Given the description of an element on the screen output the (x, y) to click on. 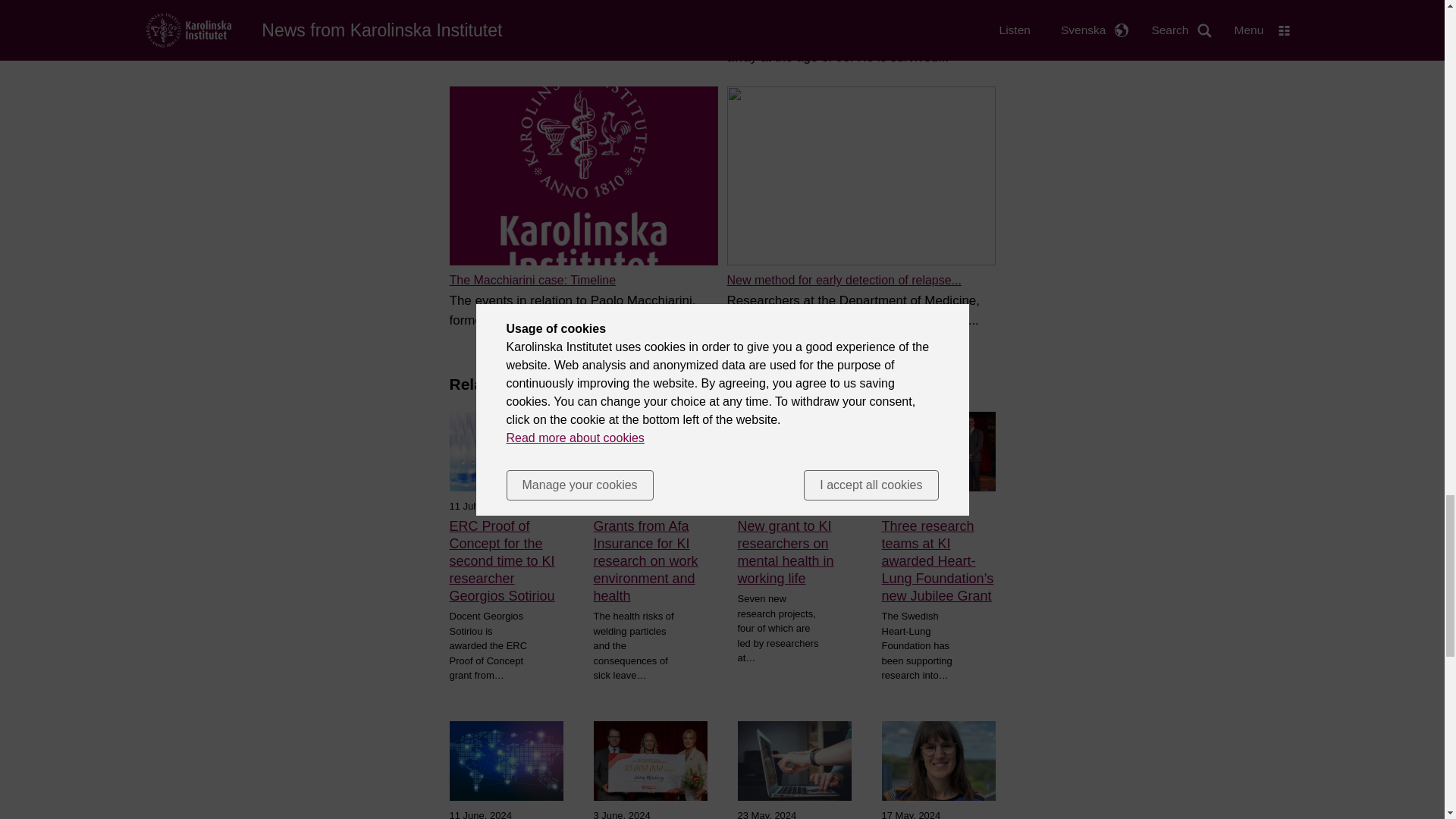
News archive (484, 16)
New method for early detection of relapse... (843, 279)
The Macchiarini case: Timeline (531, 279)
The Macchiarini case: Timeline (531, 279)
New grant to KI researchers on mental health in working life (793, 552)
New method for early detection of relapse... (843, 279)
News archive (484, 16)
In memory of Lennart Levi, 19302024 (827, 16)
In memory of Lennart Levi, 19302024 (827, 16)
